Given the description of an element on the screen output the (x, y) to click on. 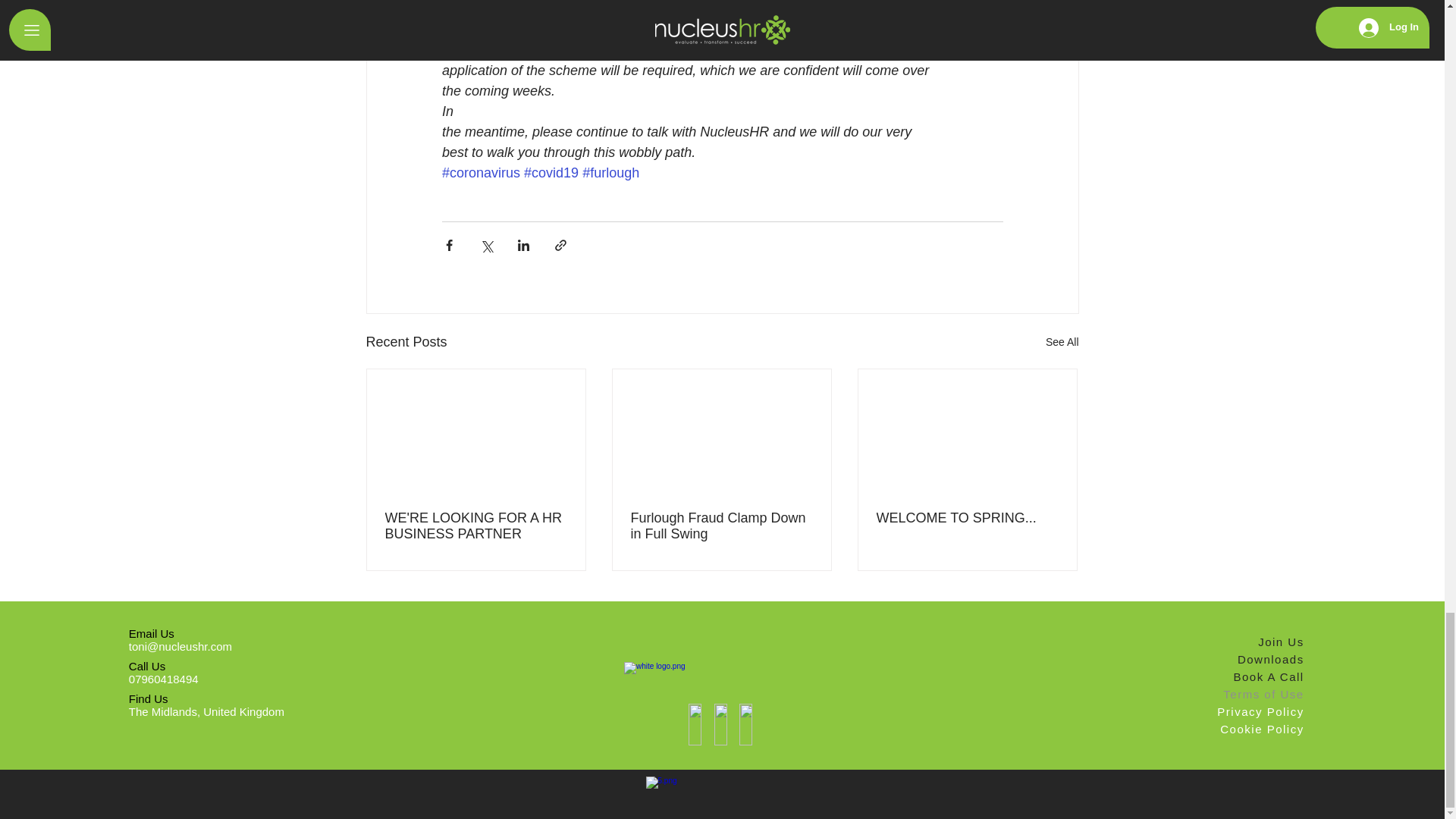
Downloads (1253, 659)
Book A Call (1253, 676)
Join Us (1253, 641)
07960418494 (163, 678)
WE'RE LOOKING FOR A HR BUSINESS PARTNER (476, 526)
Cookie Policy (1253, 728)
See All (1061, 341)
Furlough Fraud Clamp Down in Full Swing (721, 526)
Terms of Use (1253, 693)
Privacy Policy (1253, 711)
